Given the description of an element on the screen output the (x, y) to click on. 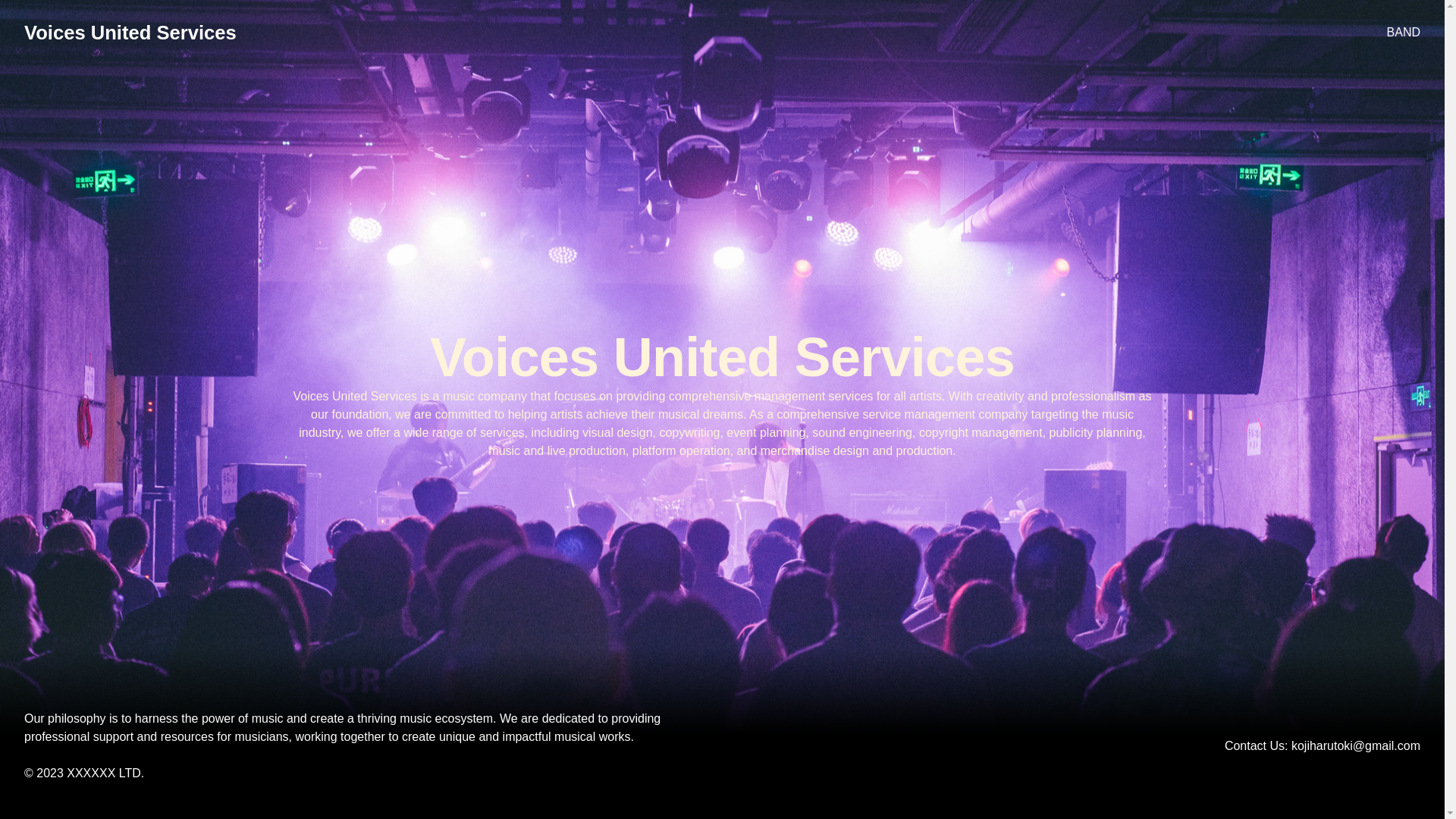
BAND Element type: text (1403, 32)
Voices United Services Element type: text (130, 32)
